Given the description of an element on the screen output the (x, y) to click on. 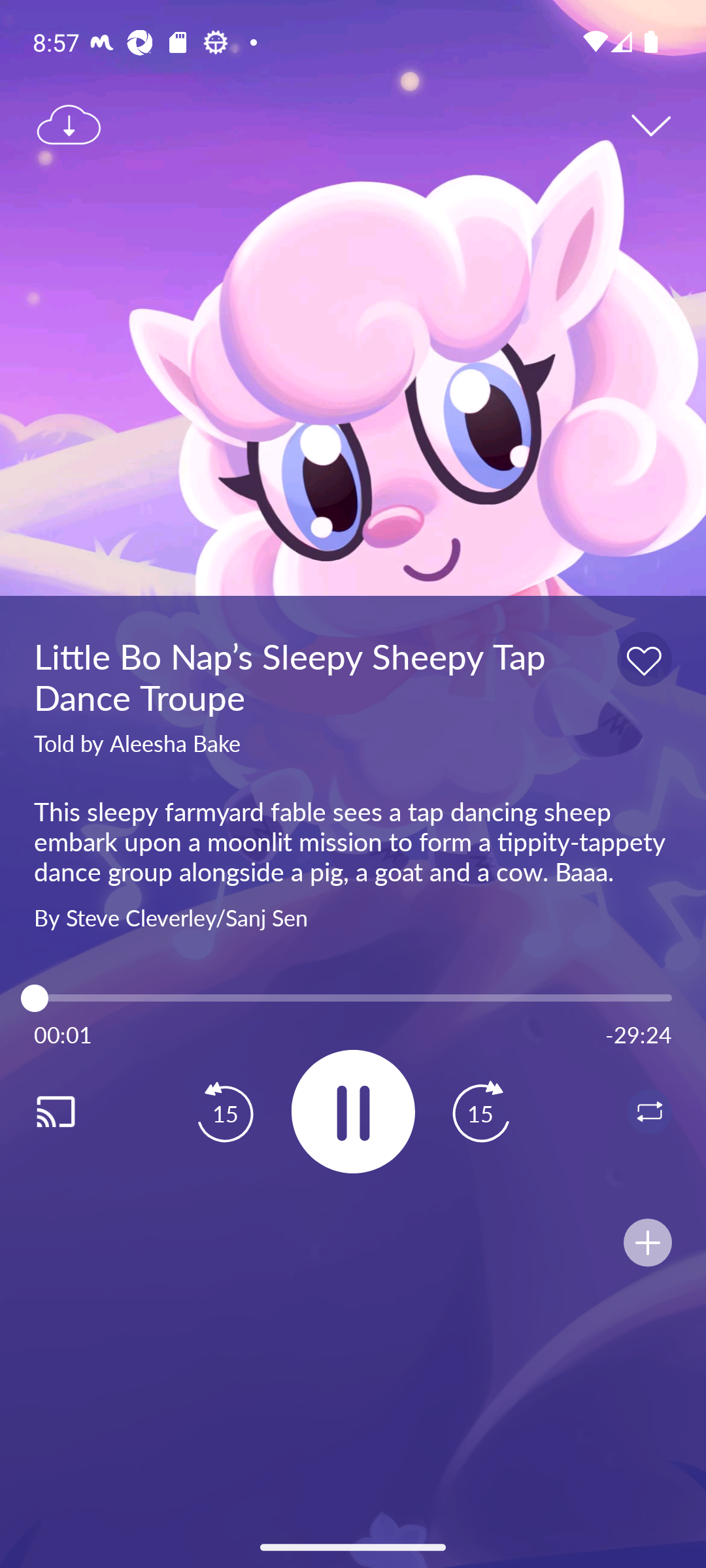
1.0 (352, 997)
Cast. Disconnected (76, 1111)
